Given the description of an element on the screen output the (x, y) to click on. 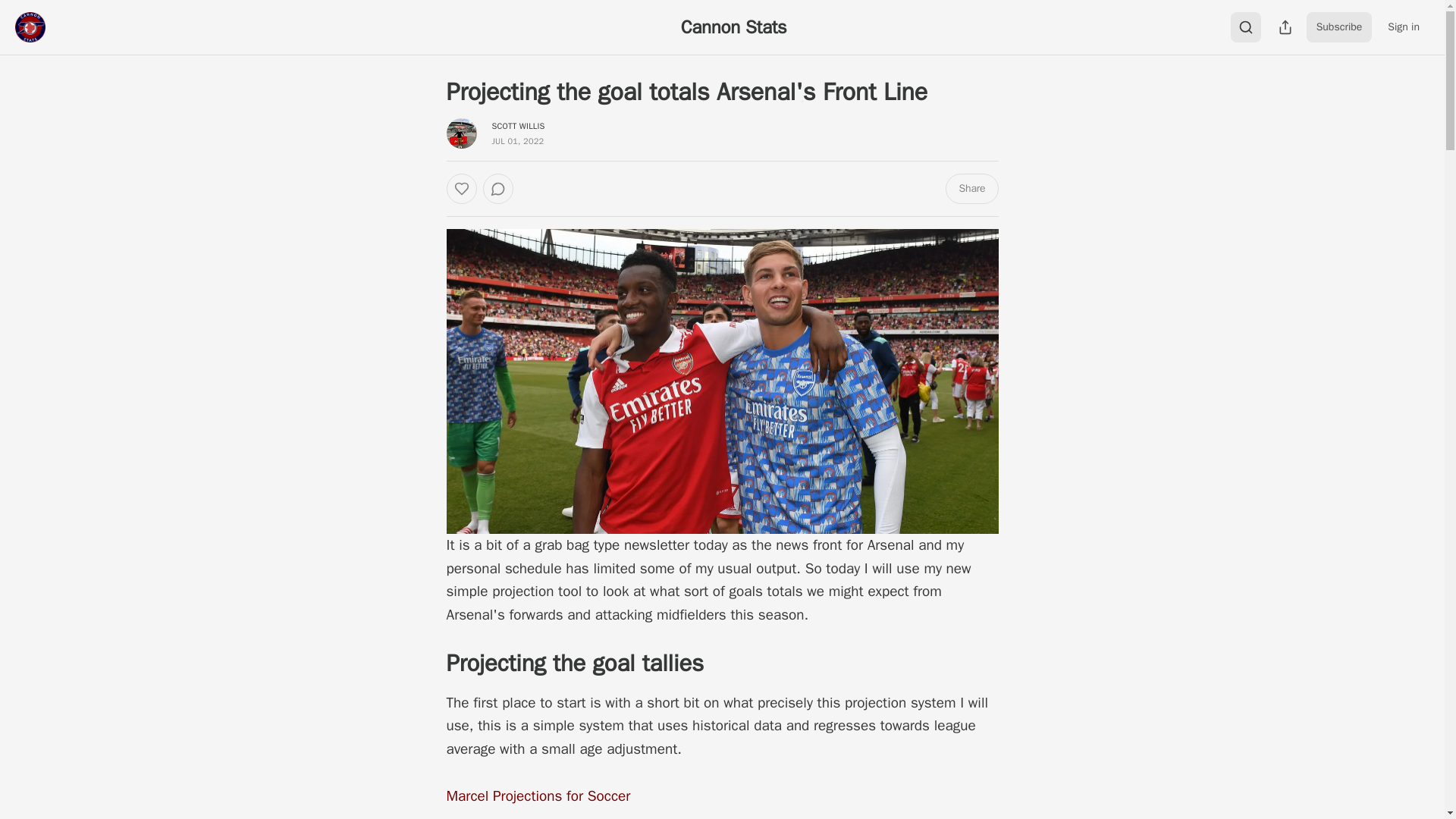
Sign in (1403, 27)
SCOTT WILLIS (518, 125)
Share (970, 188)
Cannon Stats (734, 26)
Marcel Projections for Soccer (537, 796)
Subscribe (1339, 27)
